Given the description of an element on the screen output the (x, y) to click on. 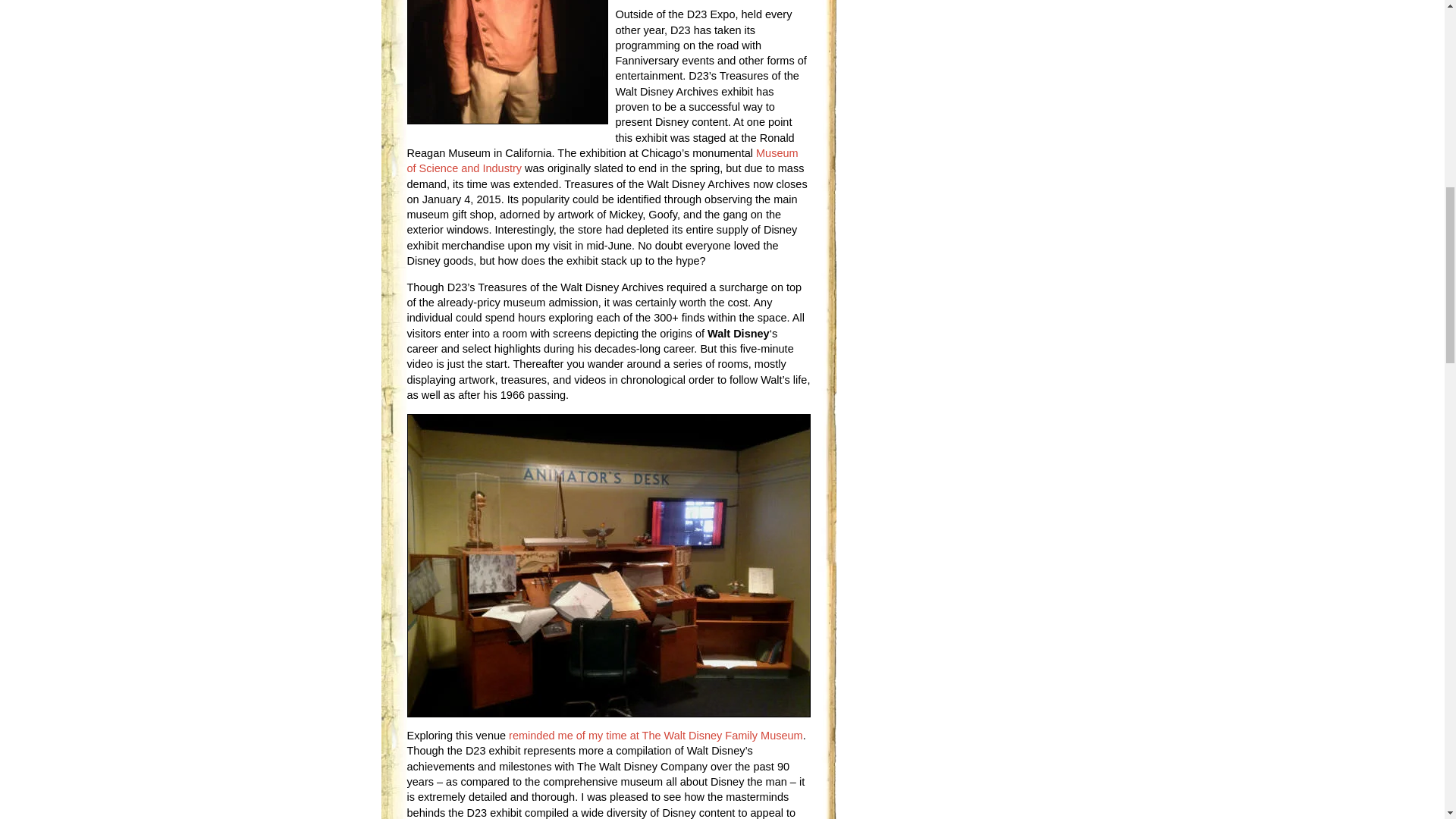
Museum of Science and Industry (601, 160)
reminded me of my time at The Walt Disney Family Museum (655, 735)
